Given the description of an element on the screen output the (x, y) to click on. 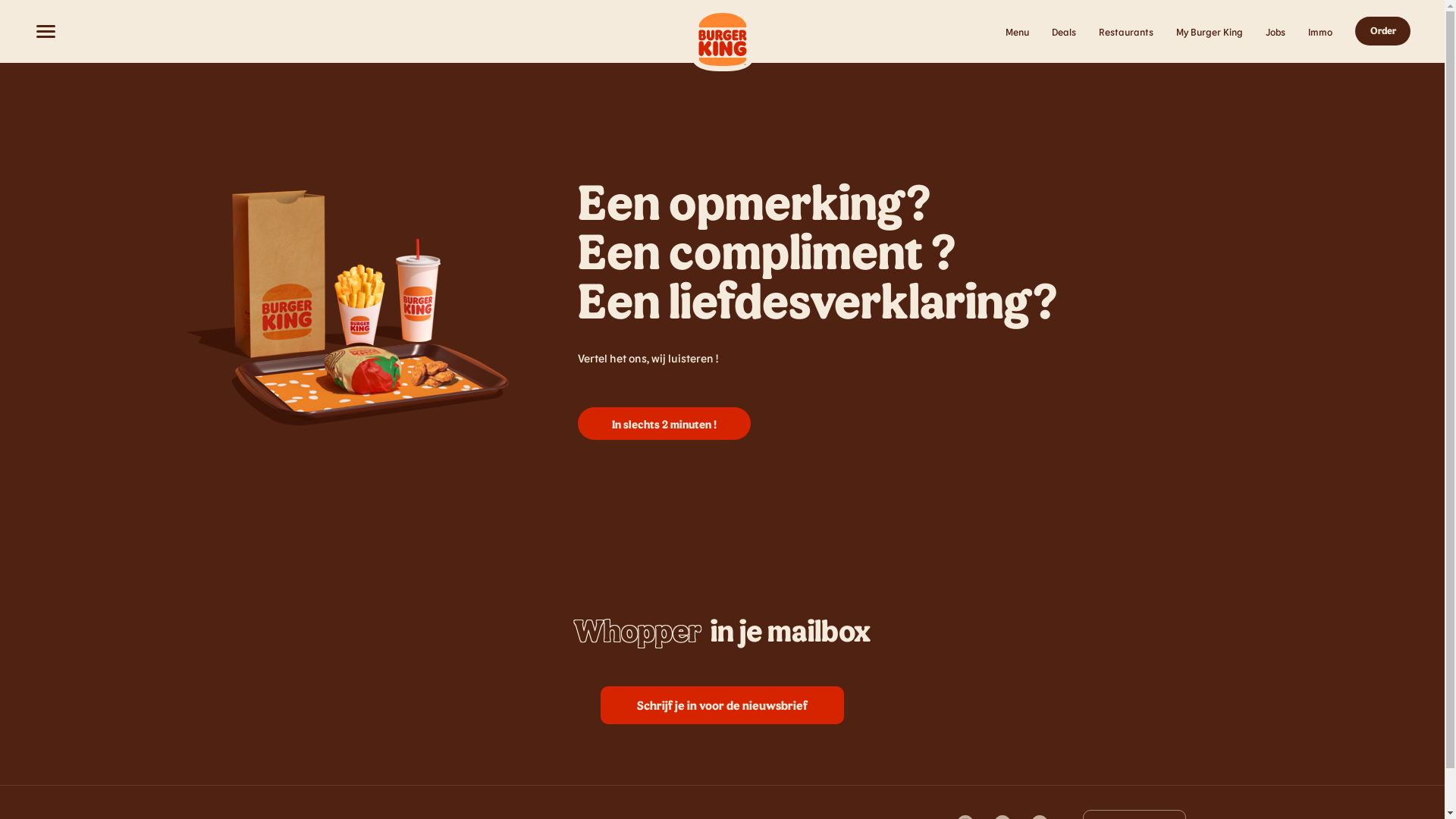
Jobs Element type: text (1275, 31)
My Burger King Element type: text (1209, 31)
Order Element type: text (1382, 30)
Menu Element type: text (1017, 31)
Deals Element type: text (1063, 31)
Immo Element type: text (1320, 31)
In slechts 2 minuten ! Element type: text (663, 423)
Schrijf je in voor de nieuwsbrief Element type: text (722, 705)
Restaurants Element type: text (1125, 31)
